Given the description of an element on the screen output the (x, y) to click on. 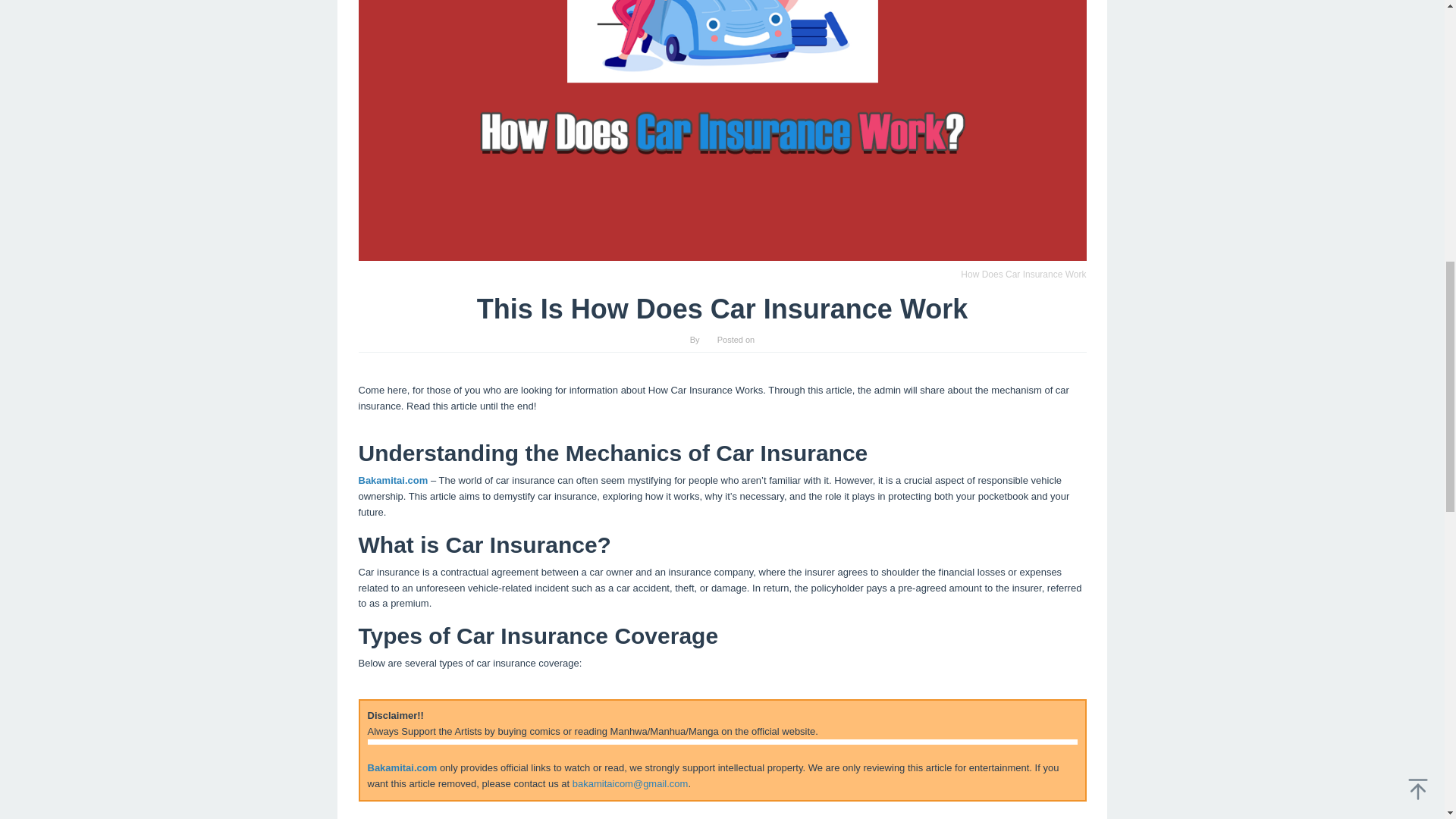
Bakamitai.com (393, 480)
Bakamitai.com (401, 767)
